Given the description of an element on the screen output the (x, y) to click on. 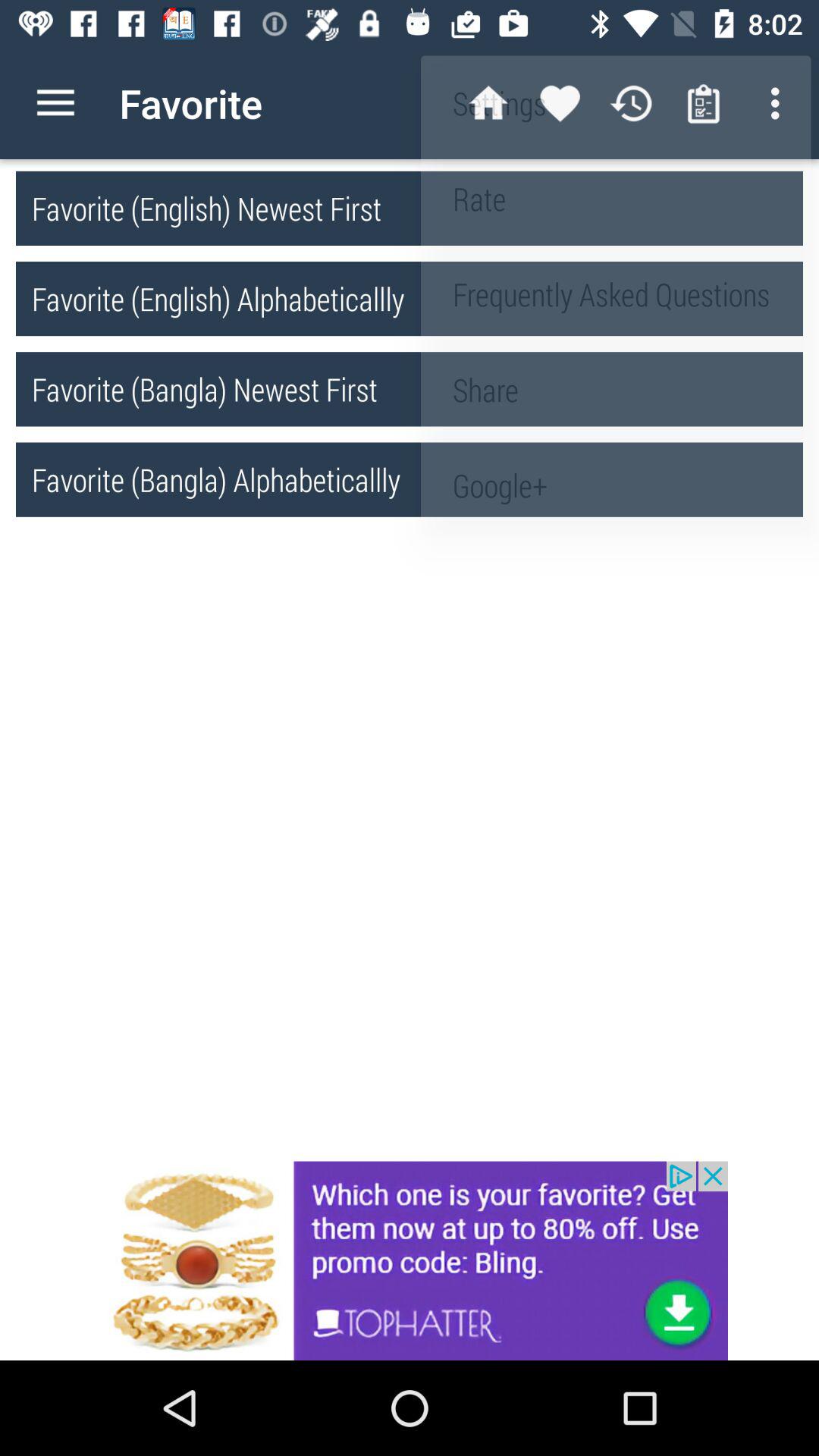
advertisement for tophatter (409, 1260)
